Given the description of an element on the screen output the (x, y) to click on. 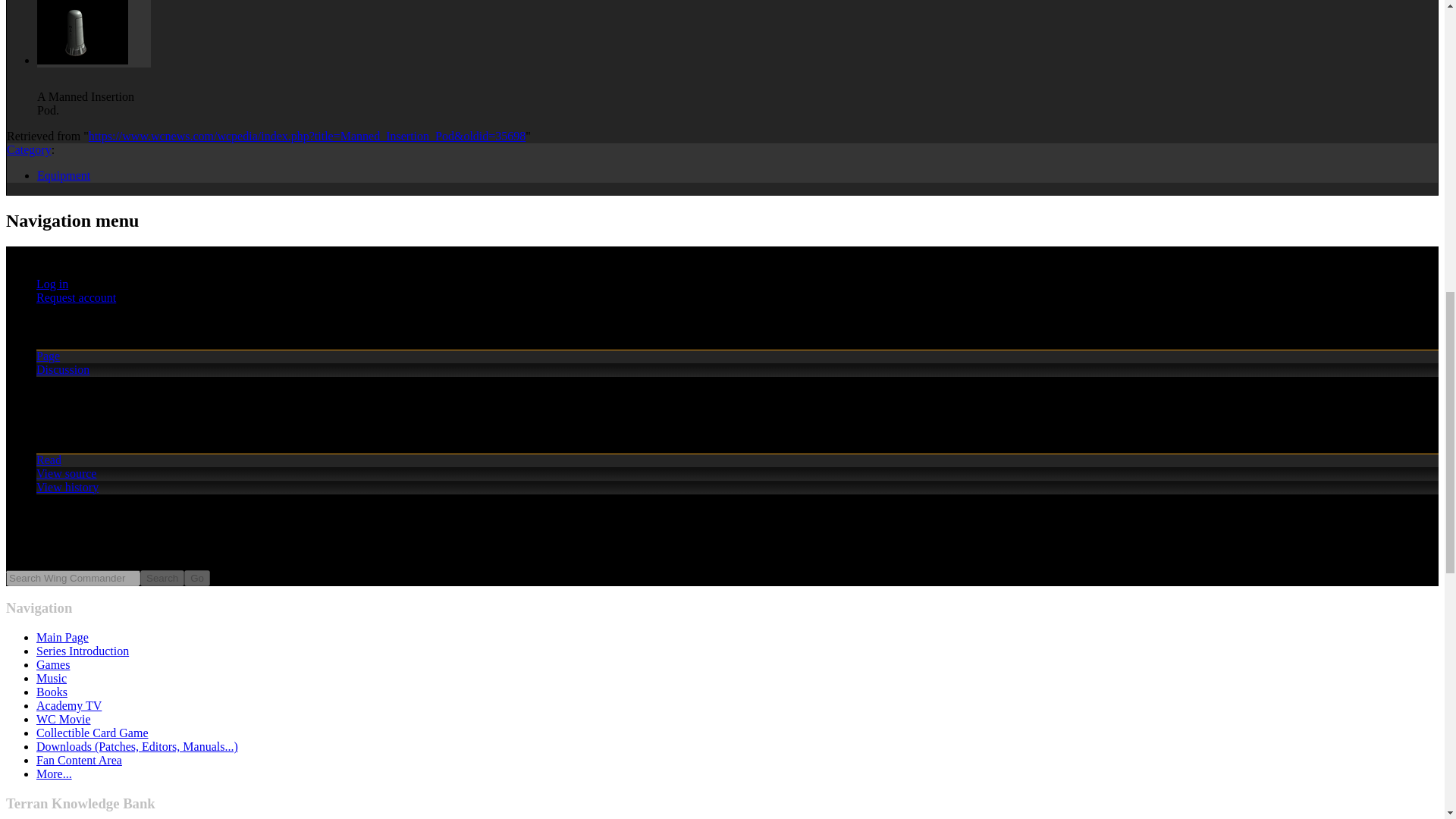
Page (47, 355)
Series Introduction (82, 650)
View history (67, 486)
Search (161, 578)
Read (48, 459)
Main Page (62, 636)
Go (196, 578)
Log in (52, 283)
View source (66, 472)
Search (161, 578)
Discussion (62, 369)
Category (28, 149)
Go (196, 578)
Search (161, 578)
Request account (76, 297)
